Given the description of an element on the screen output the (x, y) to click on. 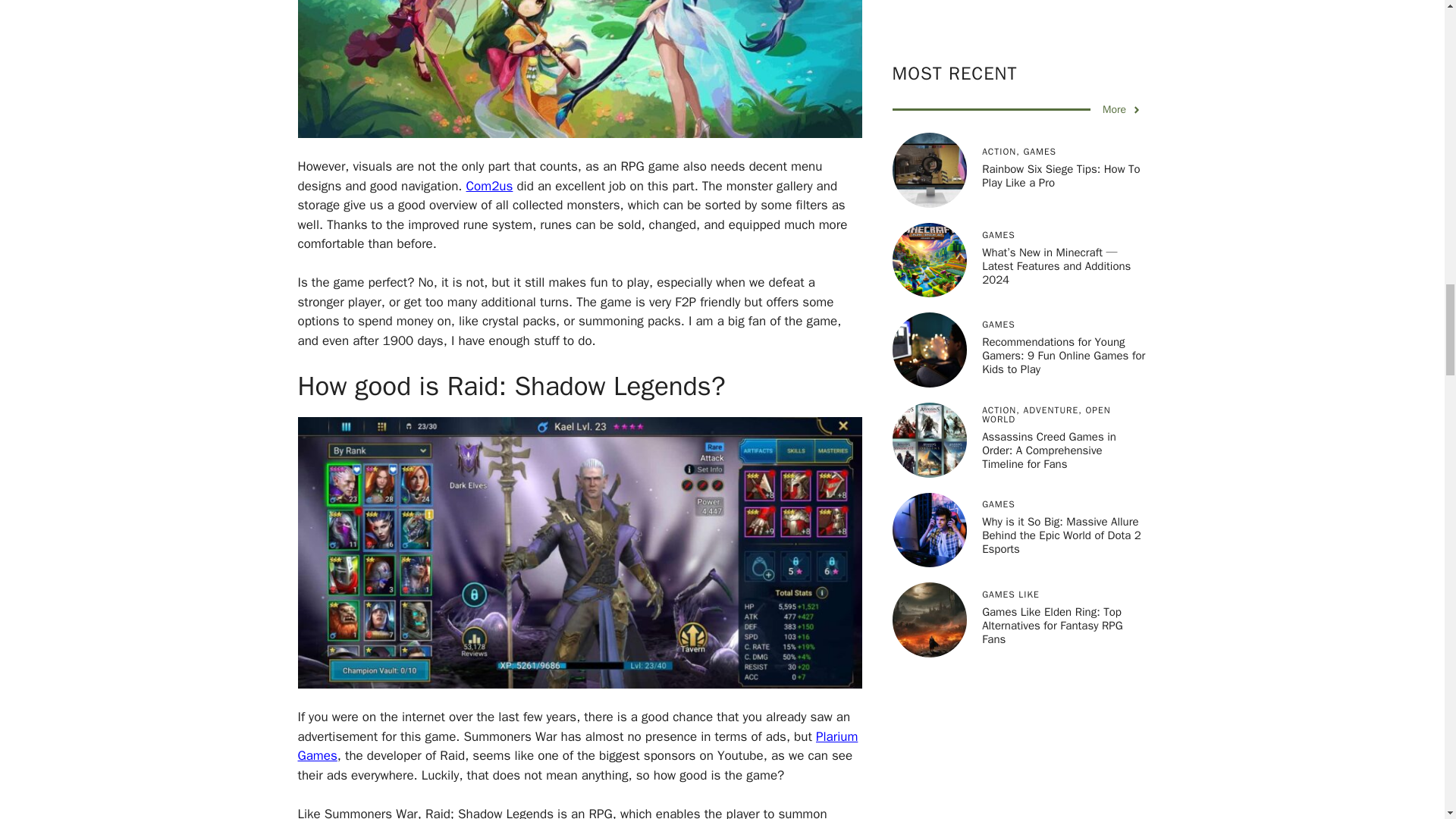
Com2us (489, 186)
Plarium Games (577, 746)
